Given the description of an element on the screen output the (x, y) to click on. 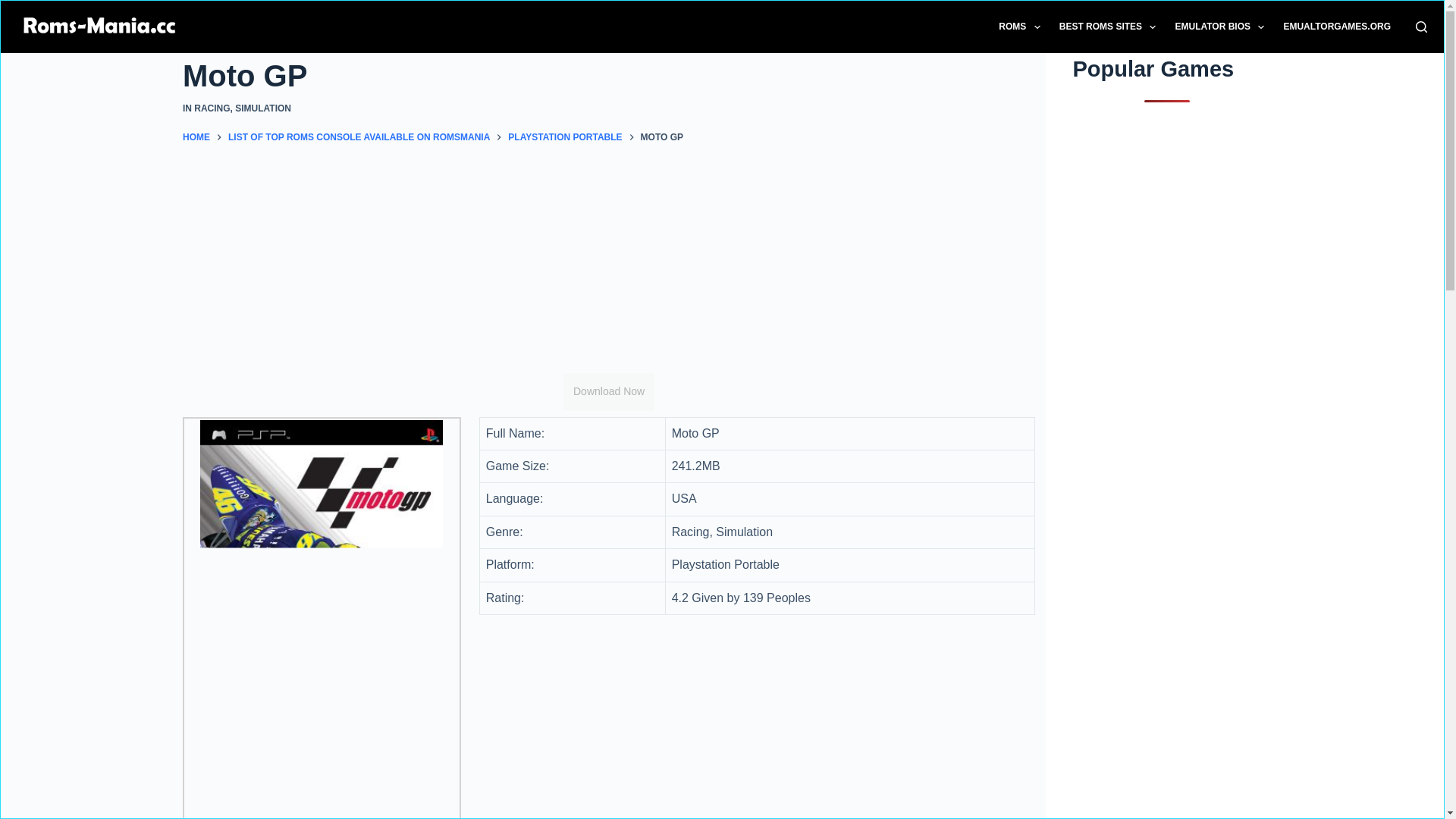
Moto GP (609, 75)
Skip to content (15, 7)
ROMS (1019, 26)
